Given the description of an element on the screen output the (x, y) to click on. 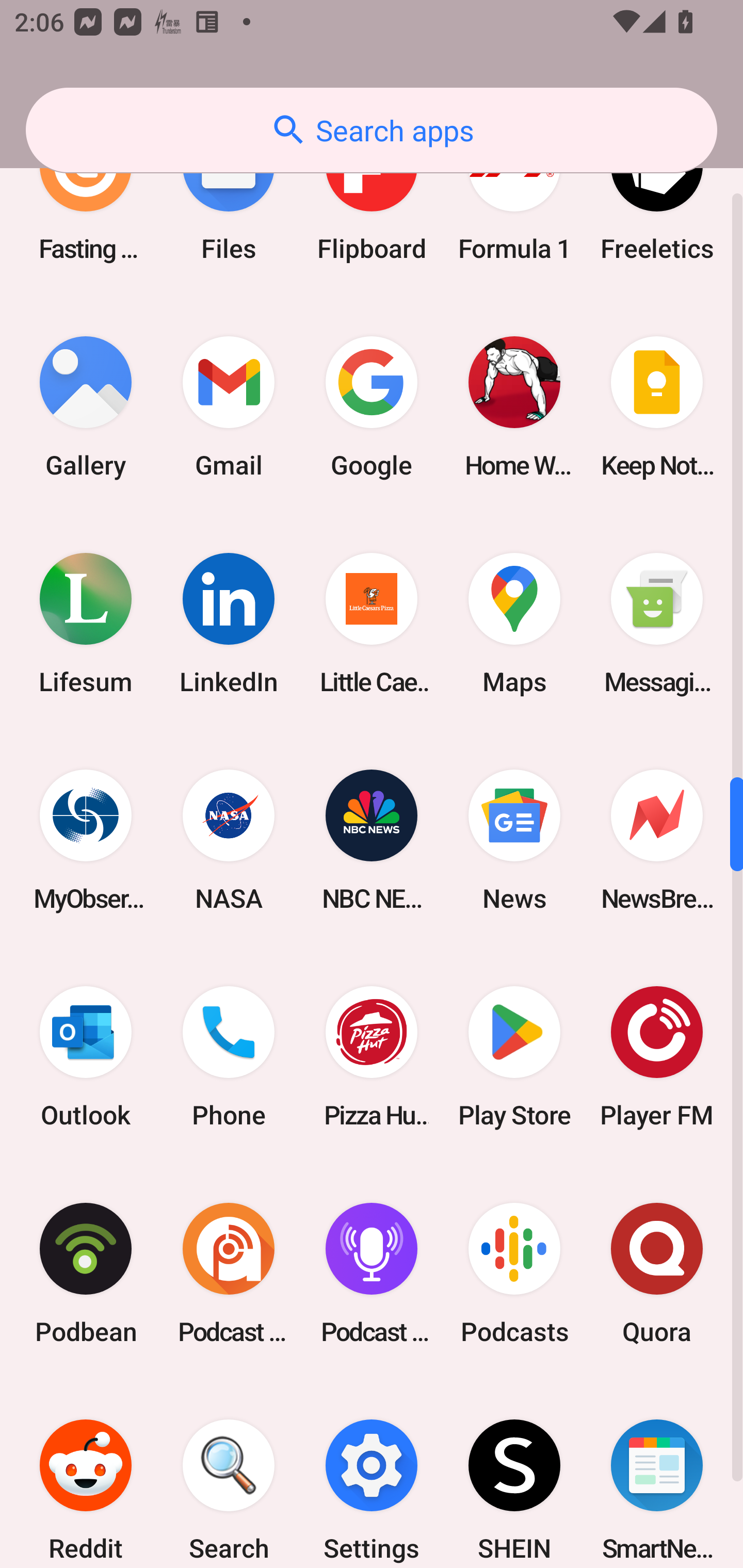
  Search apps (371, 130)
Fasting Coach (85, 200)
Files (228, 200)
Flipboard (371, 200)
Formula 1 (514, 200)
Freeletics (656, 200)
Gallery (85, 406)
Gmail (228, 406)
Google (371, 406)
Home Workout (514, 406)
Keep Notes (656, 406)
Lifesum (85, 623)
LinkedIn (228, 623)
Little Caesars Pizza (371, 623)
Maps (514, 623)
Messaging (656, 623)
MyObservatory (85, 840)
NASA (228, 840)
NBC NEWS (371, 840)
News (514, 840)
NewsBreak (656, 840)
Outlook (85, 1056)
Phone (228, 1056)
Pizza Hut HK & Macau (371, 1056)
Play Store (514, 1056)
Player FM (656, 1056)
Podbean (85, 1273)
Podcast Addict (228, 1273)
Podcast Player (371, 1273)
Podcasts (514, 1273)
Quora (656, 1273)
Reddit (85, 1474)
Search (228, 1474)
Settings (371, 1474)
SHEIN (514, 1474)
SmartNews (656, 1474)
